Given the description of an element on the screen output the (x, y) to click on. 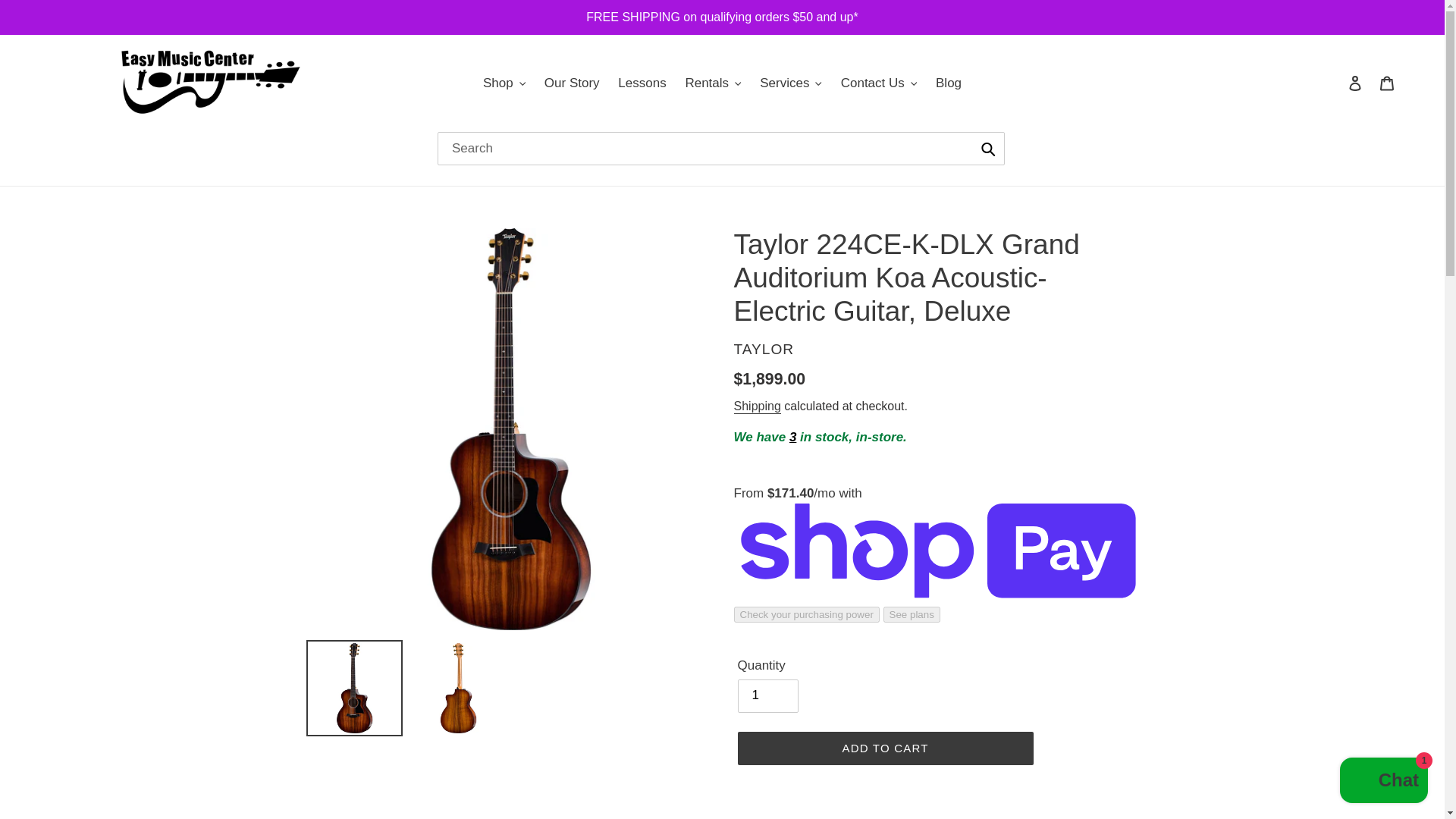
1 (766, 695)
Our Story (572, 83)
Shopify online store chat (1383, 781)
Shop (504, 83)
